Given the description of an element on the screen output the (x, y) to click on. 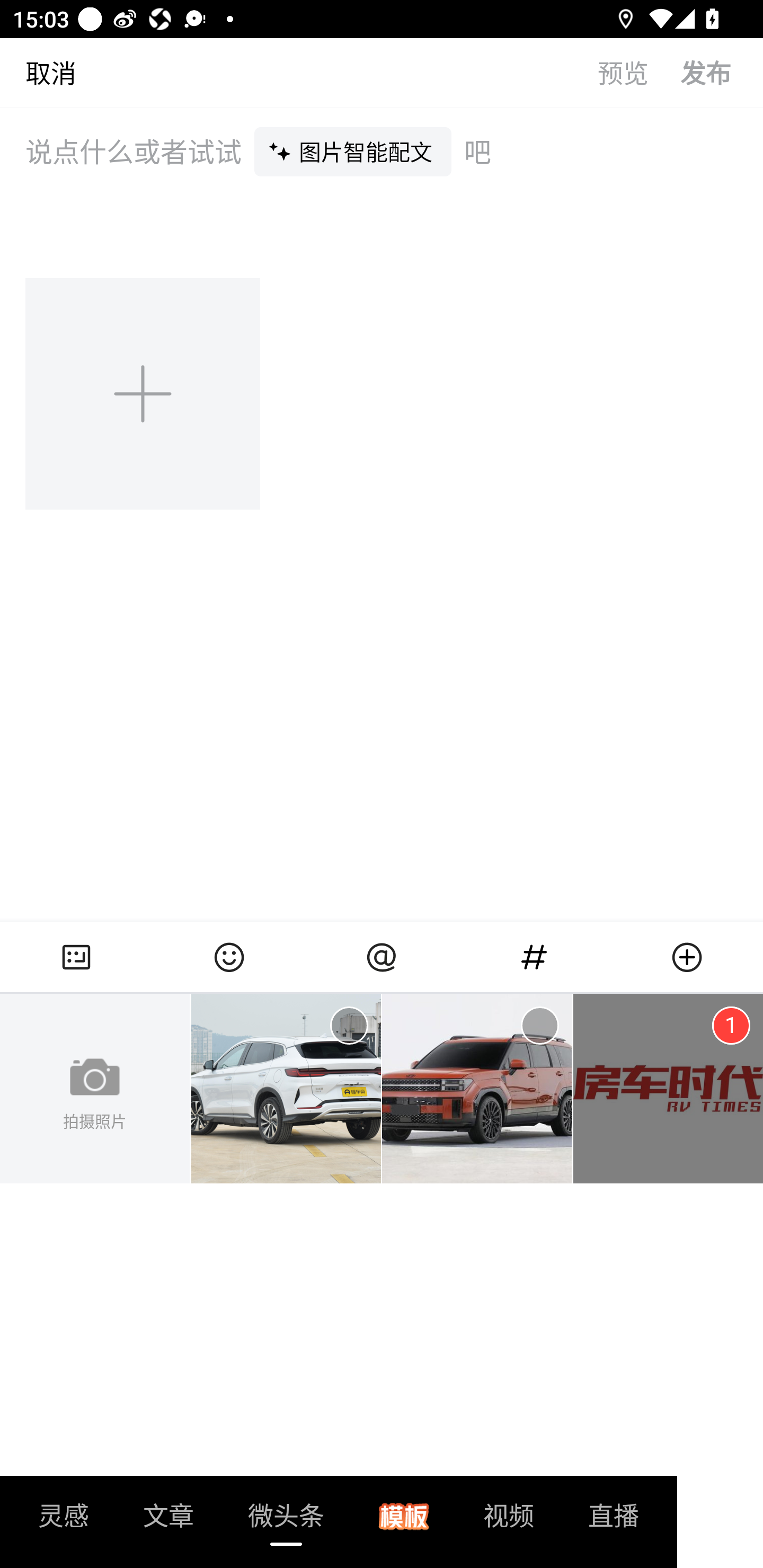
取消 (38, 71)
预览 (638, 71)
发布 (721, 71)
图片智能配文 (352, 151)
添加图片 (144, 393)
相册 (76, 956)
表情 (228, 956)
at (381, 956)
话题 (533, 956)
更多 (686, 956)
拍摄照片 (94, 1088)
图片1 (285, 1088)
图片2 (476, 1088)
图片3 (668, 1088)
已选中1 1 (731, 1025)
灵感 (63, 1521)
文章 (168, 1521)
微头条 (285, 1521)
视频 (508, 1521)
直播 (613, 1521)
